Given the description of an element on the screen output the (x, y) to click on. 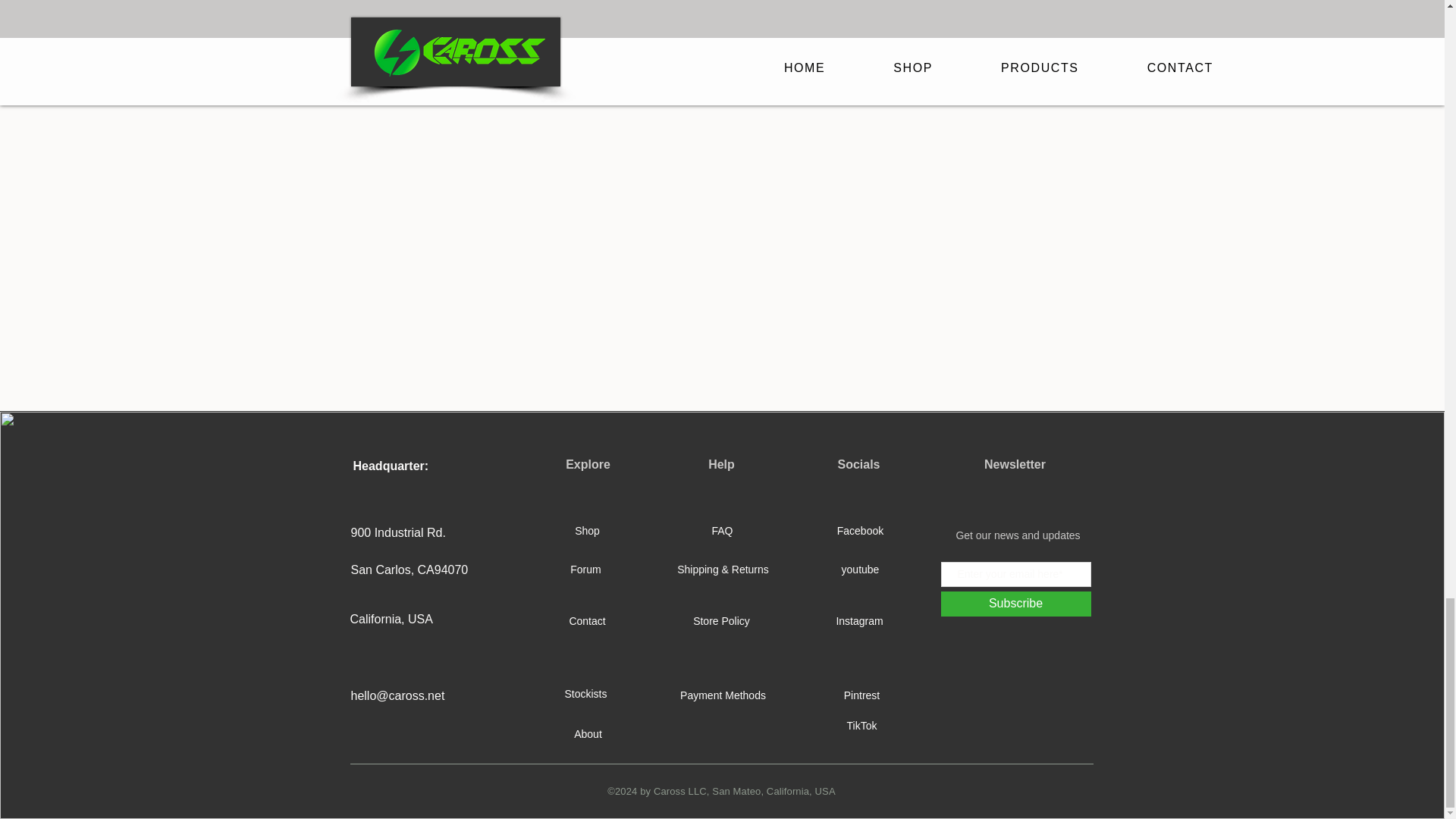
FAQ (722, 531)
Stockists (586, 694)
Payment Methods (722, 695)
About (588, 734)
Store Policy (720, 621)
Contact (588, 621)
youtube (860, 569)
TikTok (861, 726)
Facebook (860, 531)
Instagram (858, 621)
Subscribe (1015, 603)
Pintrest (861, 695)
Headquarter: (391, 465)
Forum (586, 569)
Shop (588, 531)
